Given the description of an element on the screen output the (x, y) to click on. 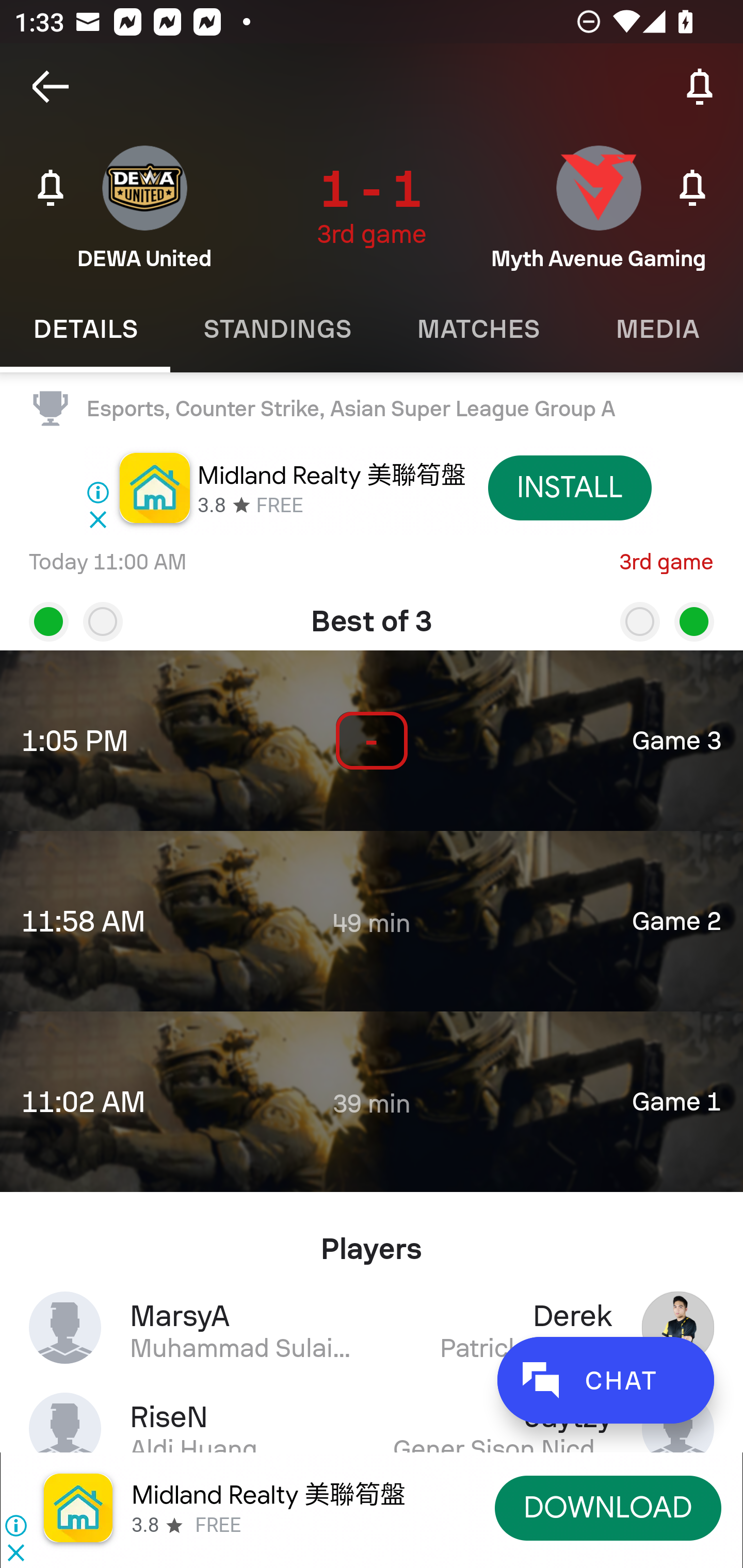
Navigate up (50, 86)
Standings STANDINGS (277, 329)
Matches MATCHES (478, 329)
Media MEDIA (657, 329)
INSTALL (570, 487)
Midland Realty 美聯筍盤 (331, 474)
Best of 3 (371, 614)
1:05 PM - Game 3 (371, 740)
11:58 AM 49 min Game 2 (371, 921)
11:02 AM 39 min Game 1 (371, 1101)
Players (371, 1240)
MarsyA Derek Muhammad Sulaiman Patrick Lacson (371, 1327)
CHAT (605, 1380)
DOWNLOAD (607, 1507)
Midland Realty 美聯筍盤 (268, 1494)
